Given the description of an element on the screen output the (x, y) to click on. 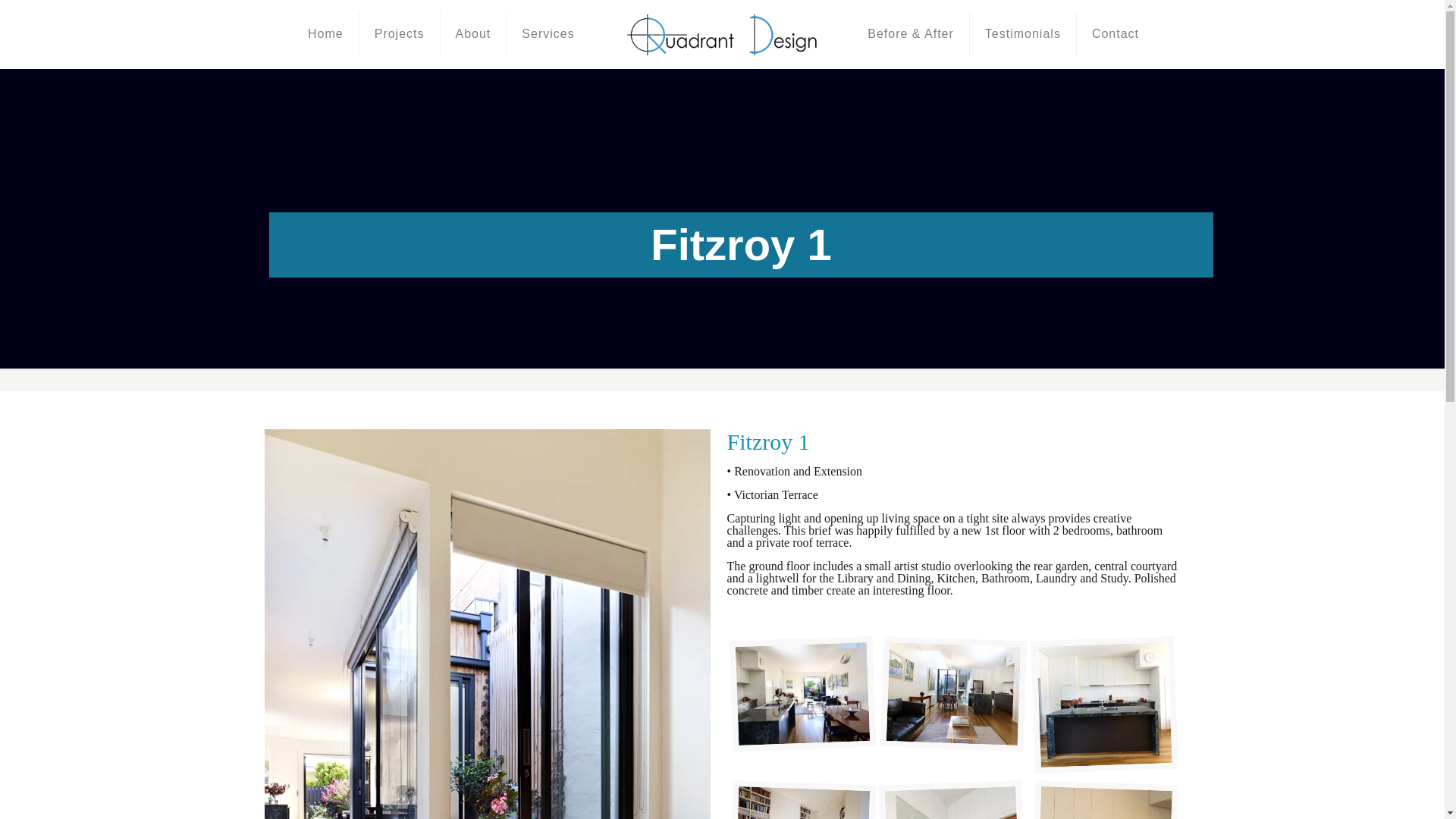
Contact (1115, 33)
Testimonials (1023, 33)
About (472, 33)
Projects (400, 33)
Services (547, 33)
Home (325, 33)
Quadrant Design (721, 33)
